Given the description of an element on the screen output the (x, y) to click on. 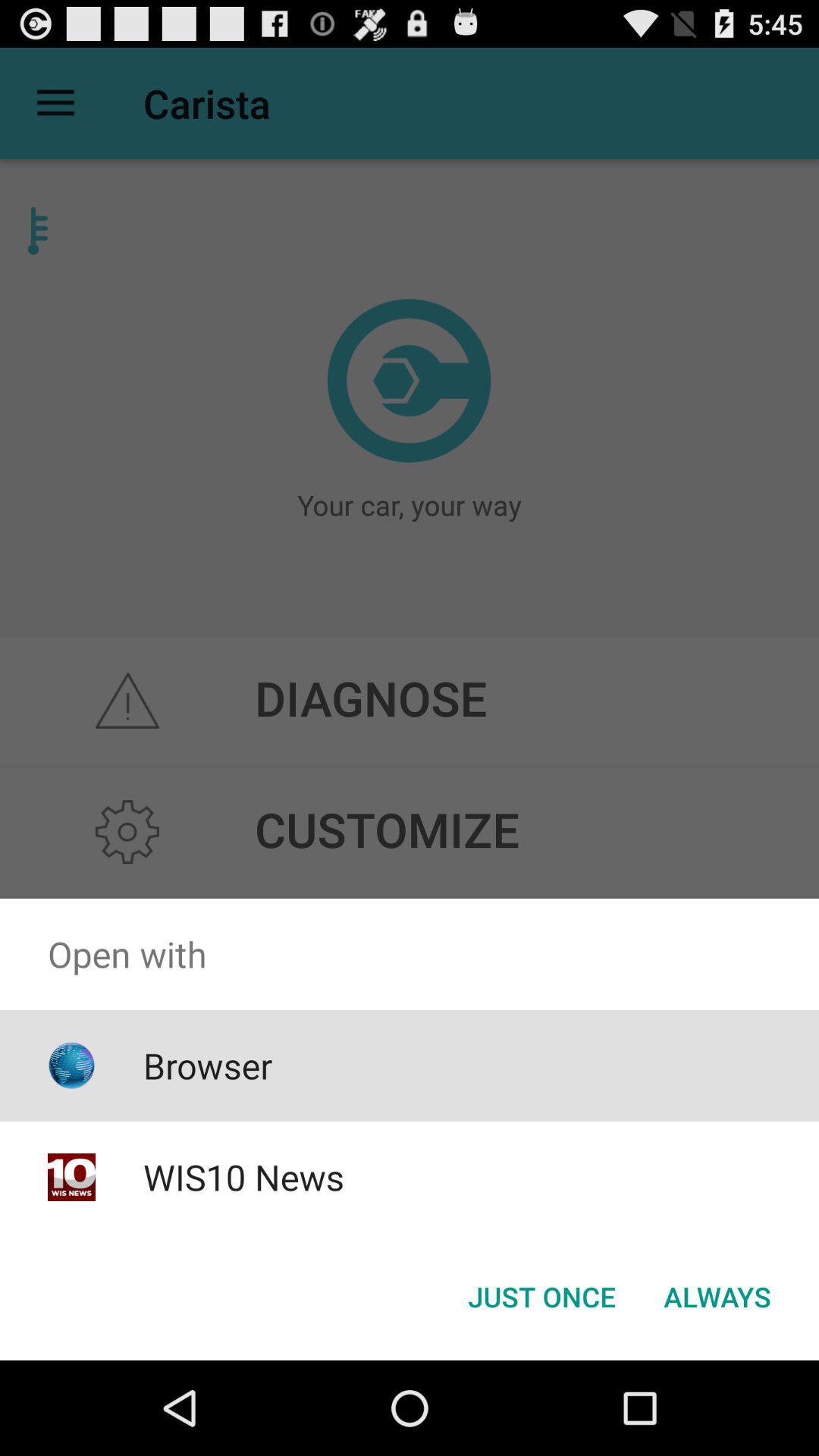
select icon below the open with item (207, 1065)
